Given the description of an element on the screen output the (x, y) to click on. 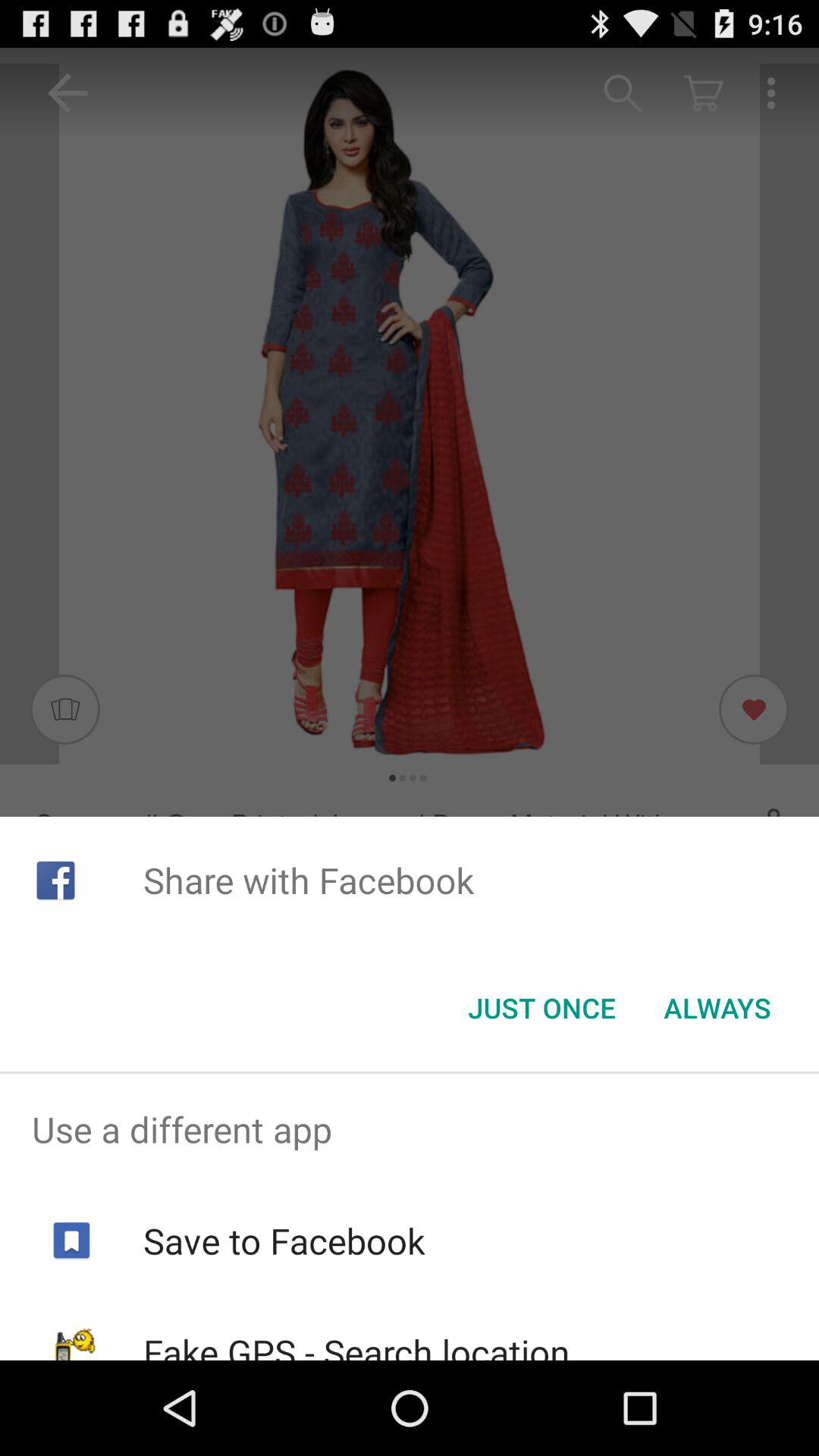
scroll to always button (717, 1007)
